Given the description of an element on the screen output the (x, y) to click on. 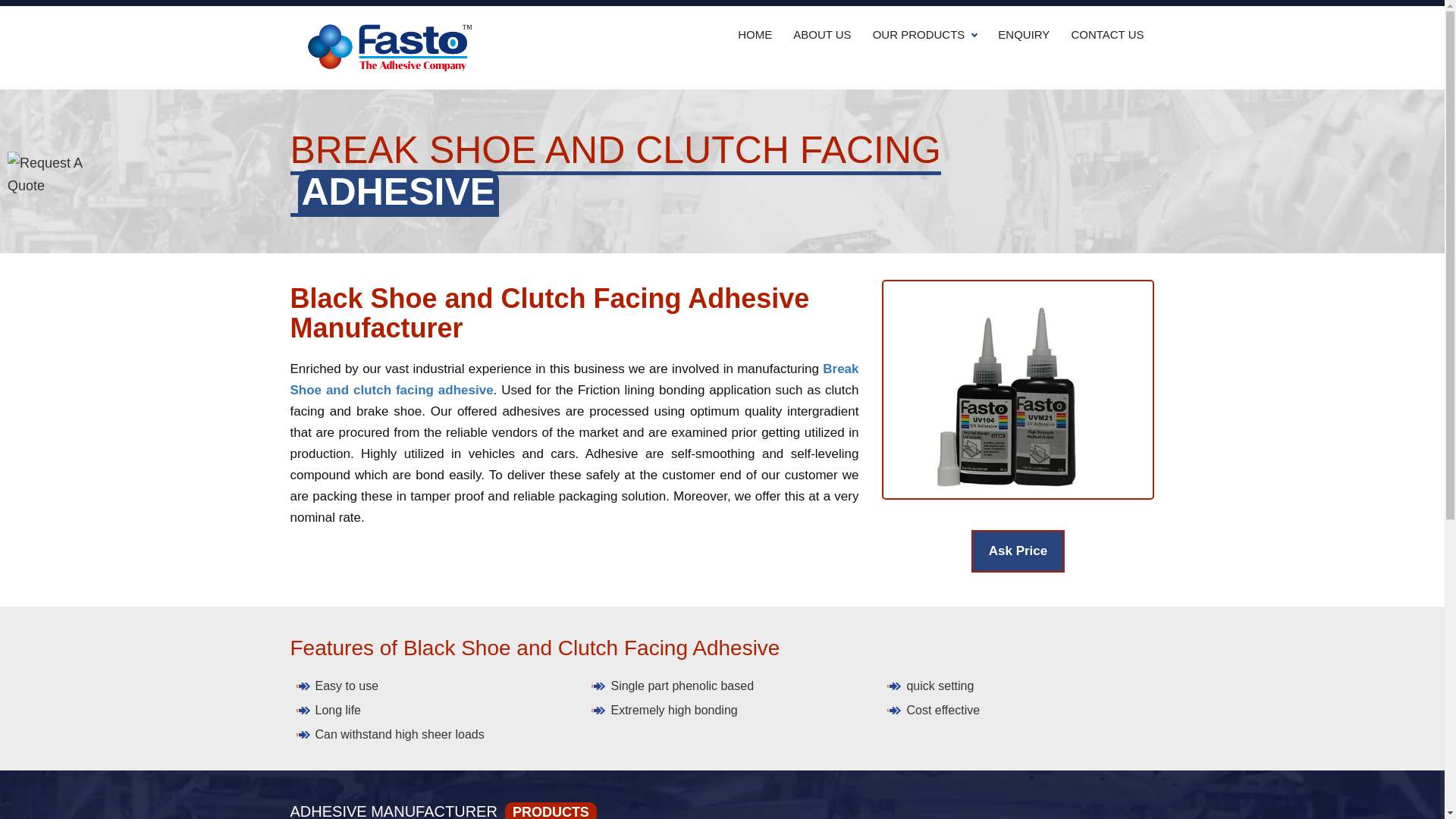
OUR PRODUCTS (924, 34)
ABOUT US (822, 34)
HOME (754, 34)
